Given the description of an element on the screen output the (x, y) to click on. 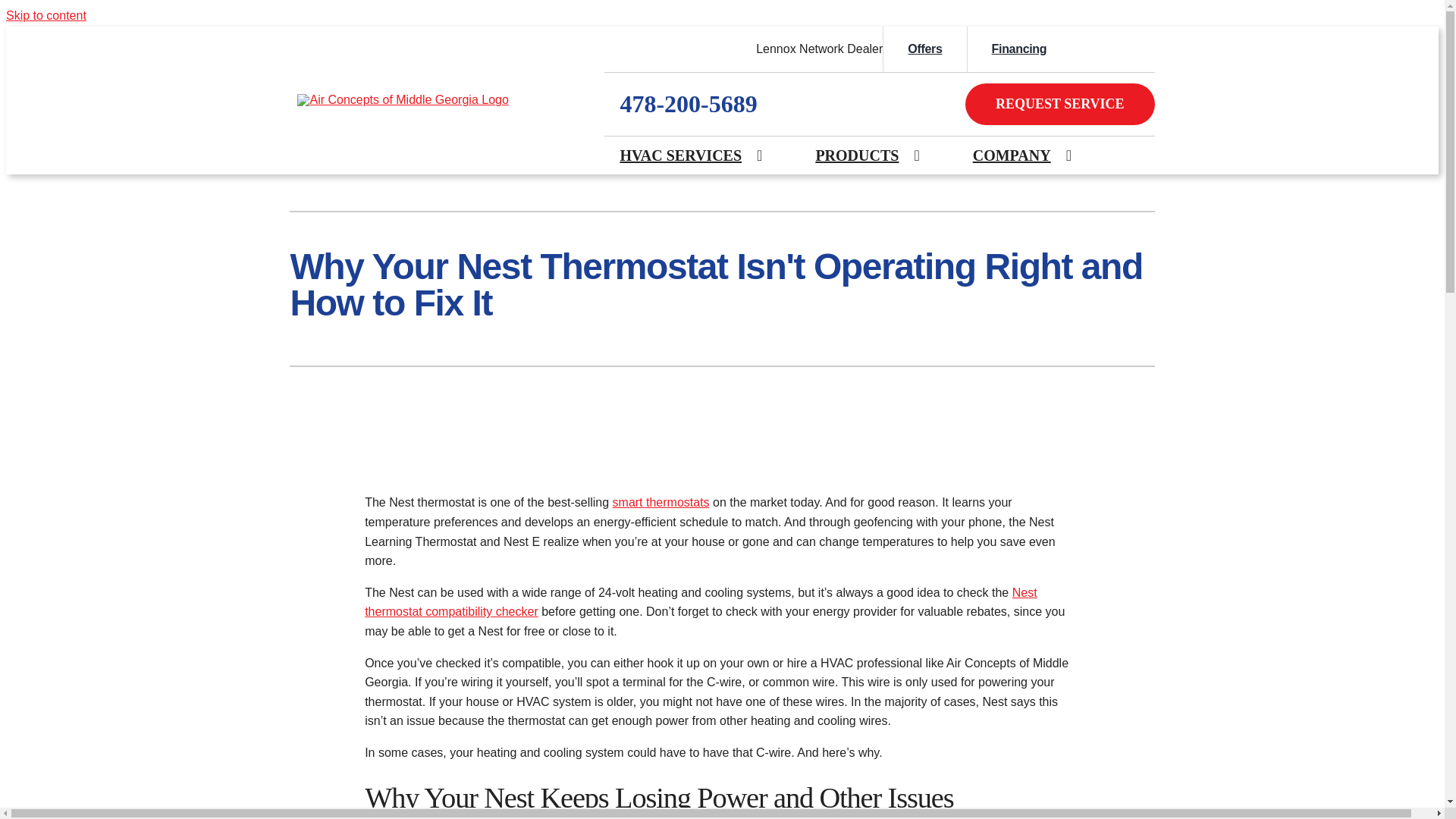
Financing (1018, 49)
Offers (924, 49)
PRODUCTS (856, 155)
COMPANY (1011, 155)
Skip to content (45, 15)
HVAC SERVICES (680, 155)
REQUEST SERVICE (1059, 104)
